Given the description of an element on the screen output the (x, y) to click on. 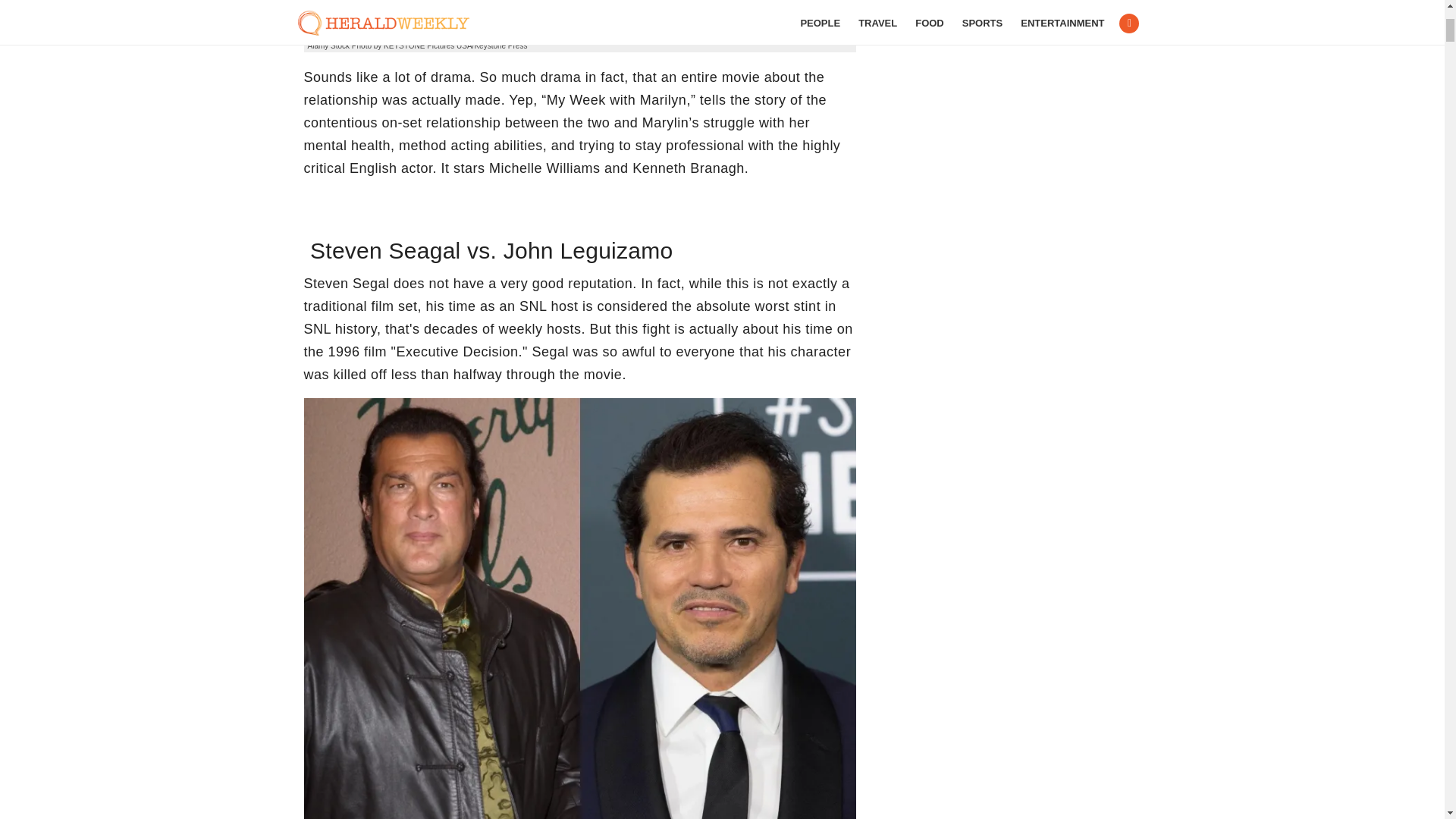
Laurence Olivier vs. Marilyn Monroe (579, 20)
